Given the description of an element on the screen output the (x, y) to click on. 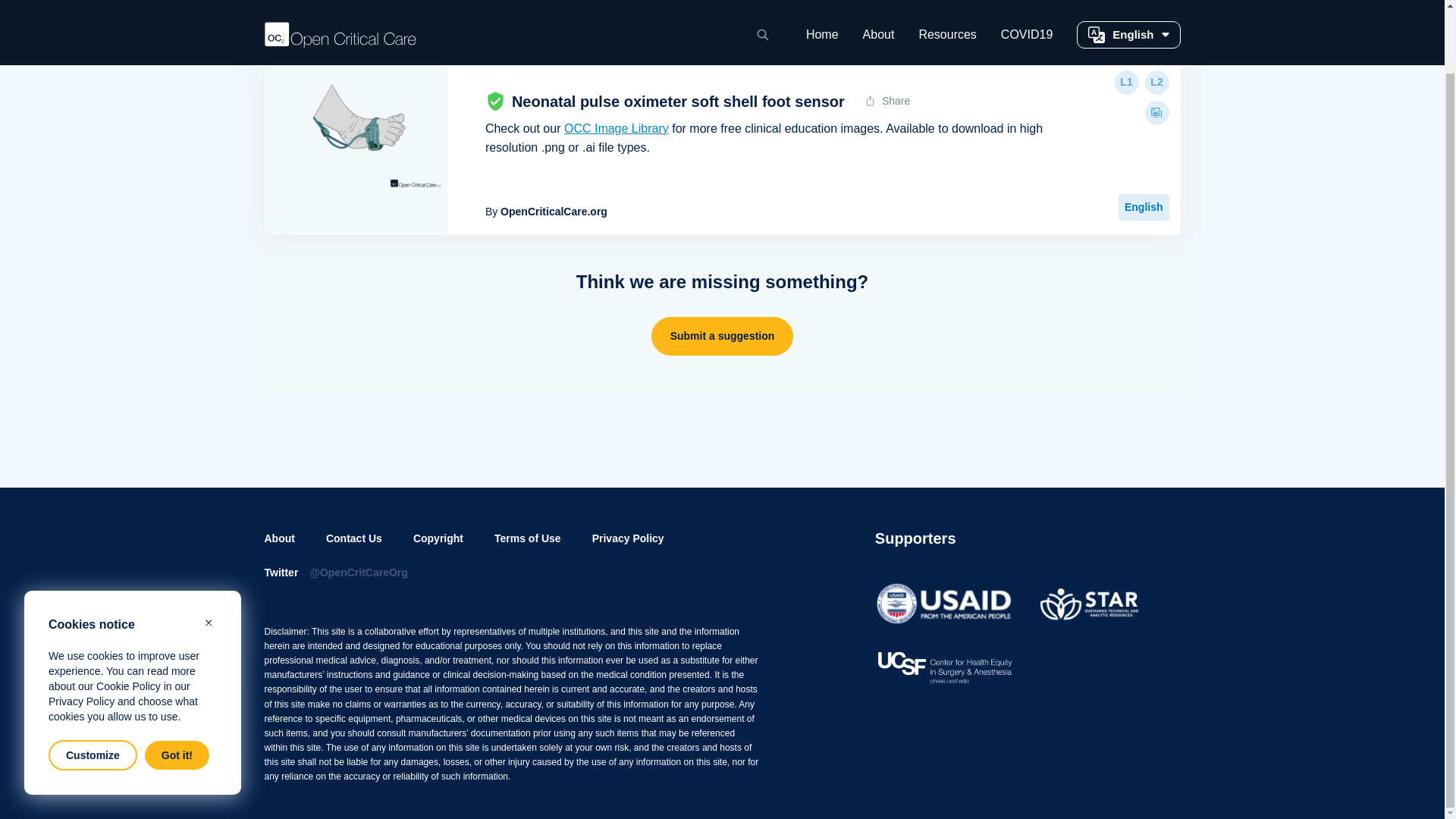
By OpenCriticalCare.org (545, 211)
Neonatal pulse oximeter soft shell foot sensor (678, 101)
OCC Image Library (616, 128)
Back to all resources (721, 40)
Share (888, 100)
Neonatal pulse oximeter soft shell foot sensor (678, 101)
Back to all resources (721, 40)
Neonatal pulse oximeter soft shell foot sensor (354, 128)
Submit a suggestion (721, 335)
